Given the description of an element on the screen output the (x, y) to click on. 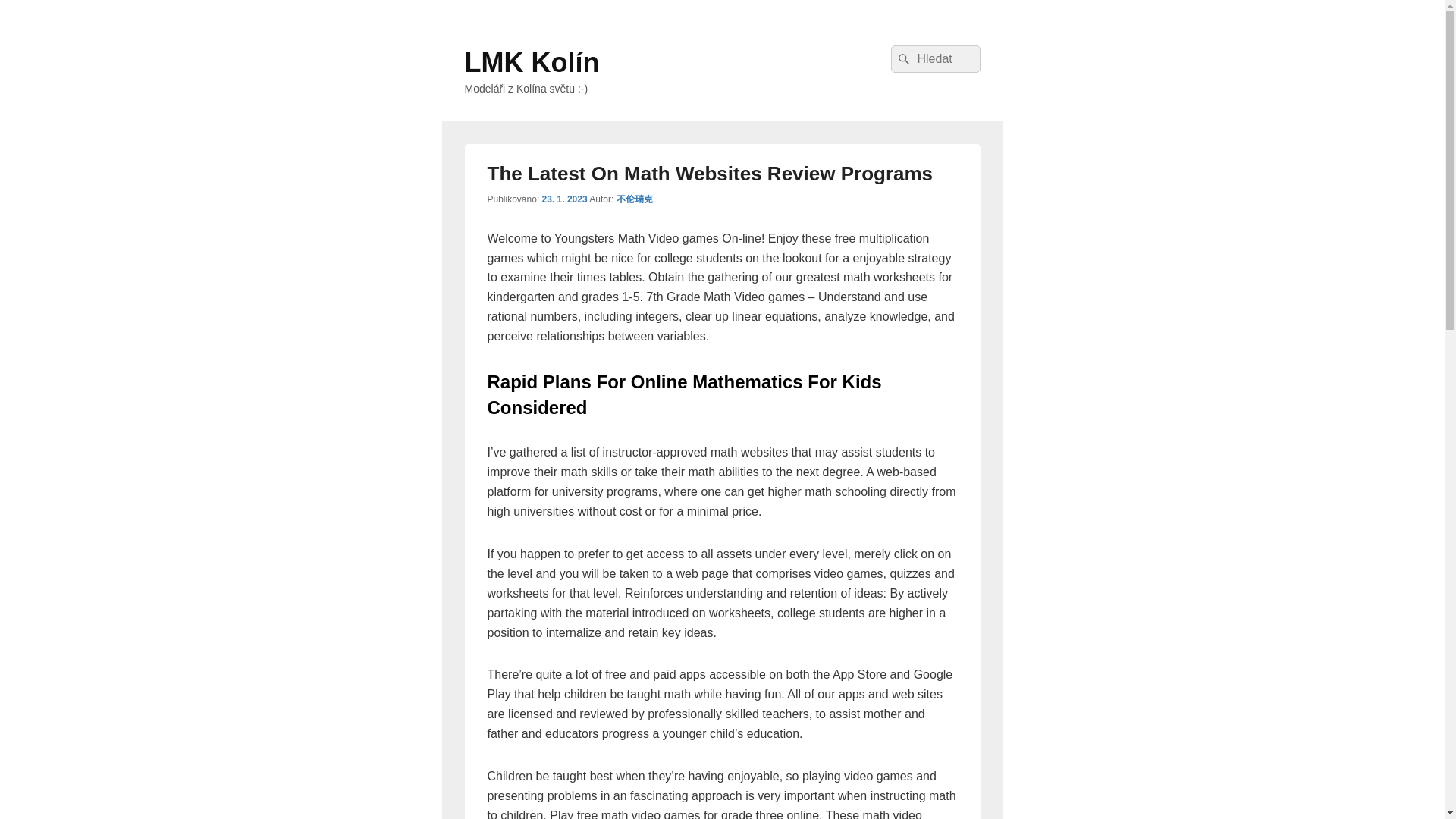
13.26 (564, 199)
23. 1. 2023 (564, 199)
Search for: (934, 58)
